Given the description of an element on the screen output the (x, y) to click on. 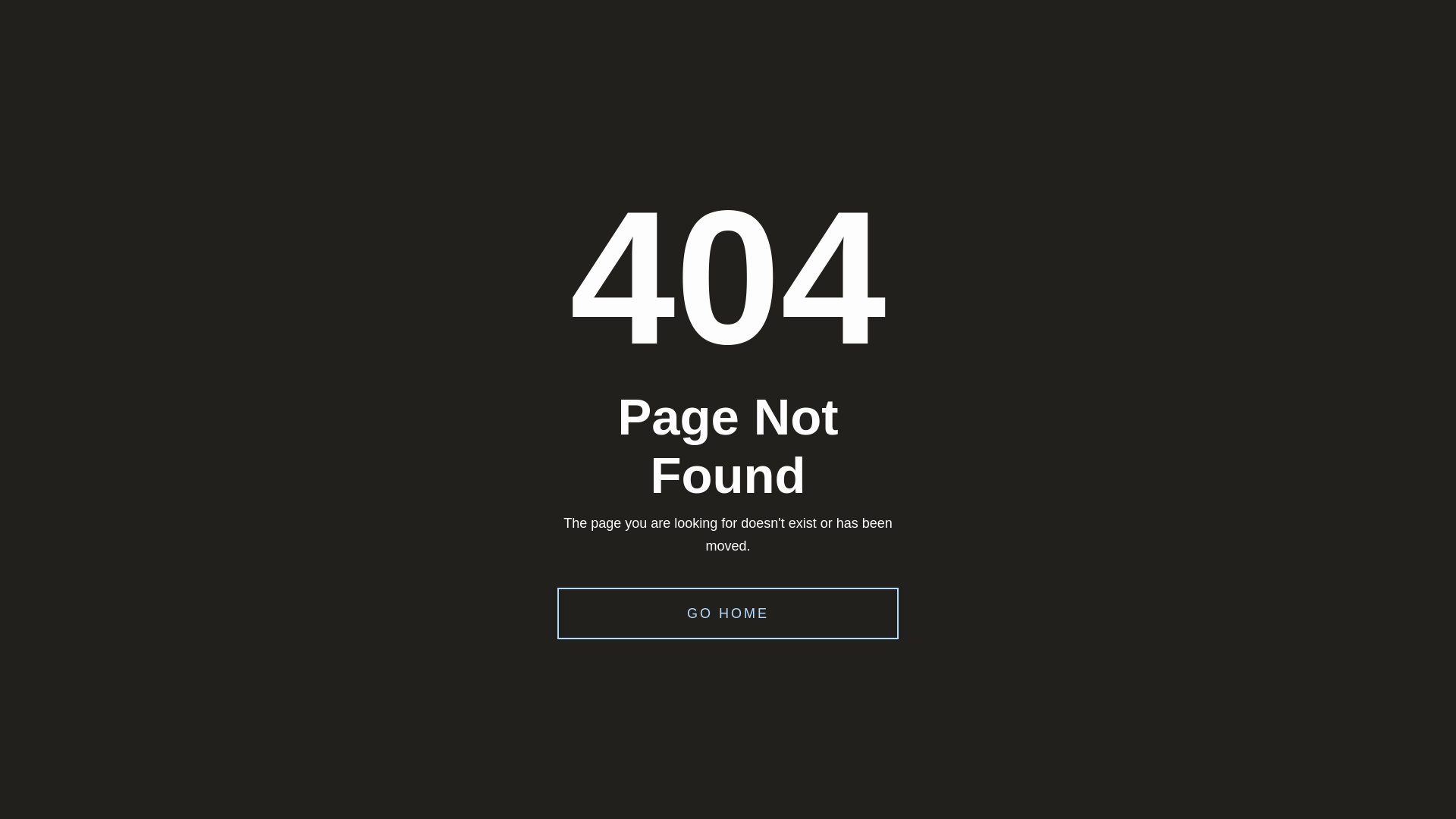
GO HOME Element type: text (727, 613)
